Given the description of an element on the screen output the (x, y) to click on. 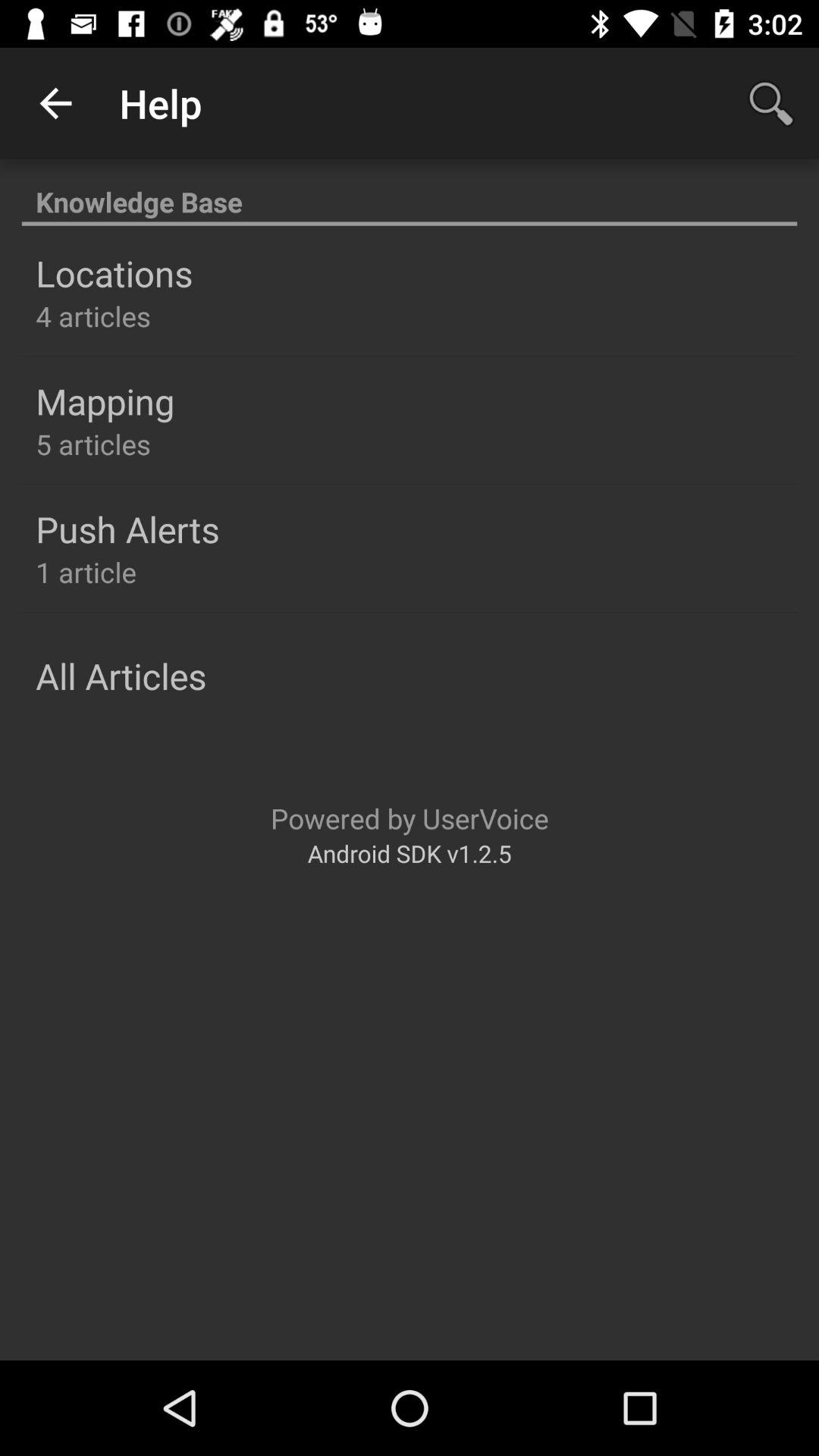
flip to the android sdk v1 item (409, 853)
